Given the description of an element on the screen output the (x, y) to click on. 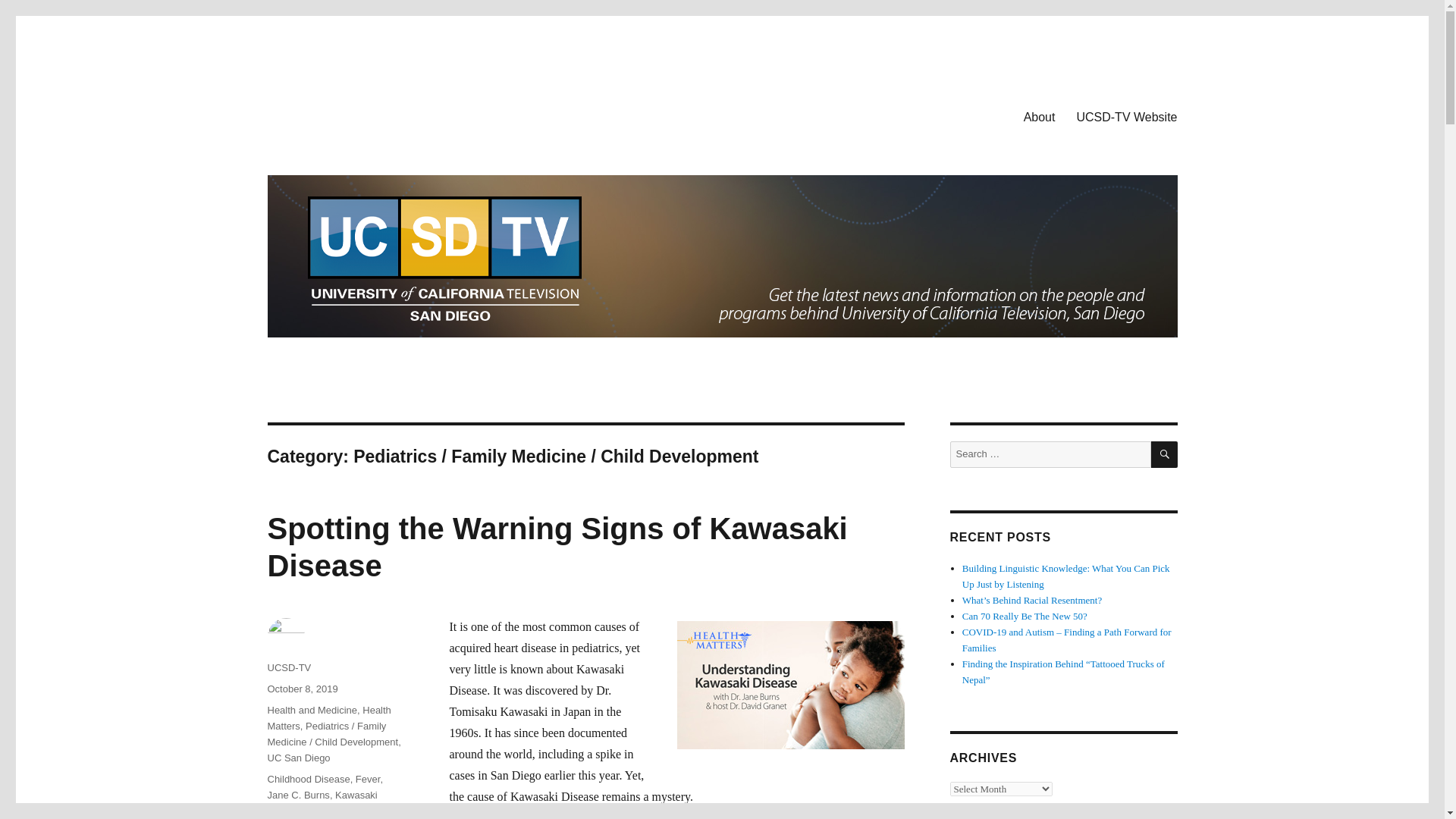
Health and Medicine (311, 709)
Spotting the Warning Signs of Kawasaki Disease (556, 546)
October 8, 2019 (301, 688)
Childhood Disease (307, 778)
About (1039, 116)
medical mystery (343, 810)
UCSD-TV Website (1126, 116)
UCSD-TV (288, 667)
Jane C. Burns (297, 794)
Health Matters (328, 718)
